Given the description of an element on the screen output the (x, y) to click on. 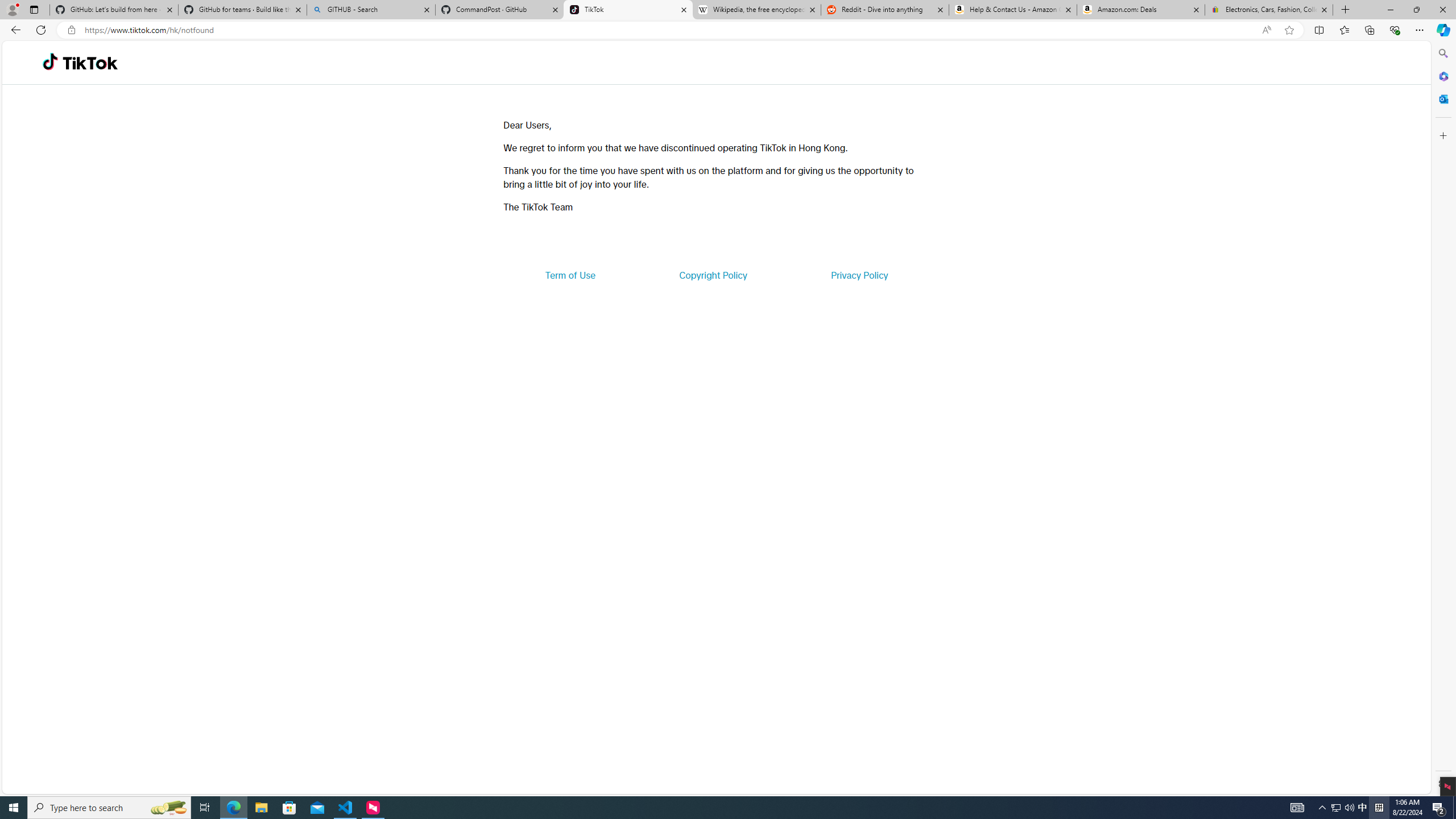
Copyright Policy (712, 274)
Wikipedia, the free encyclopedia (756, 9)
Amazon.com: Deals (1140, 9)
